Given the description of an element on the screen output the (x, y) to click on. 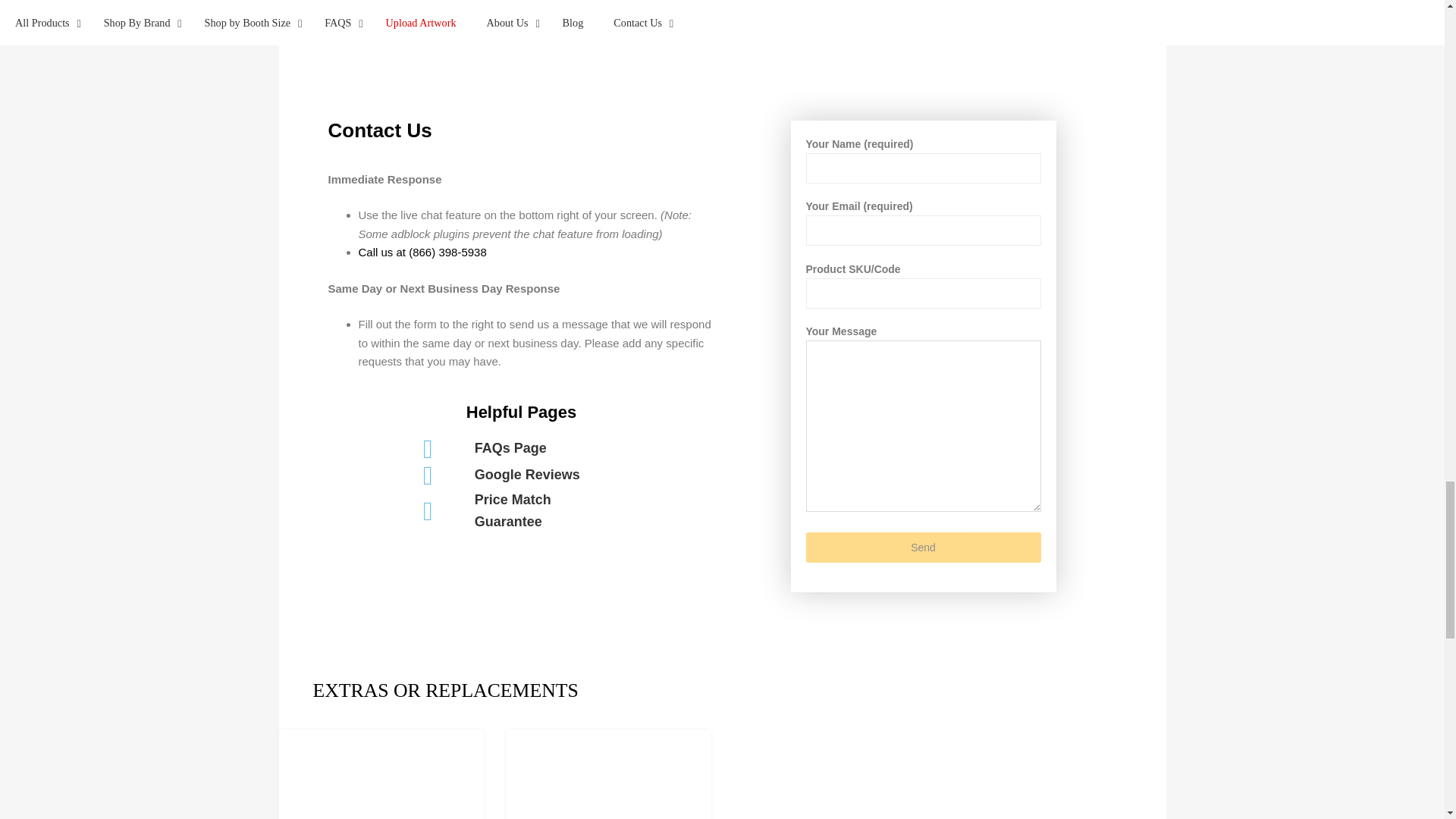
Send (923, 547)
